Given the description of an element on the screen output the (x, y) to click on. 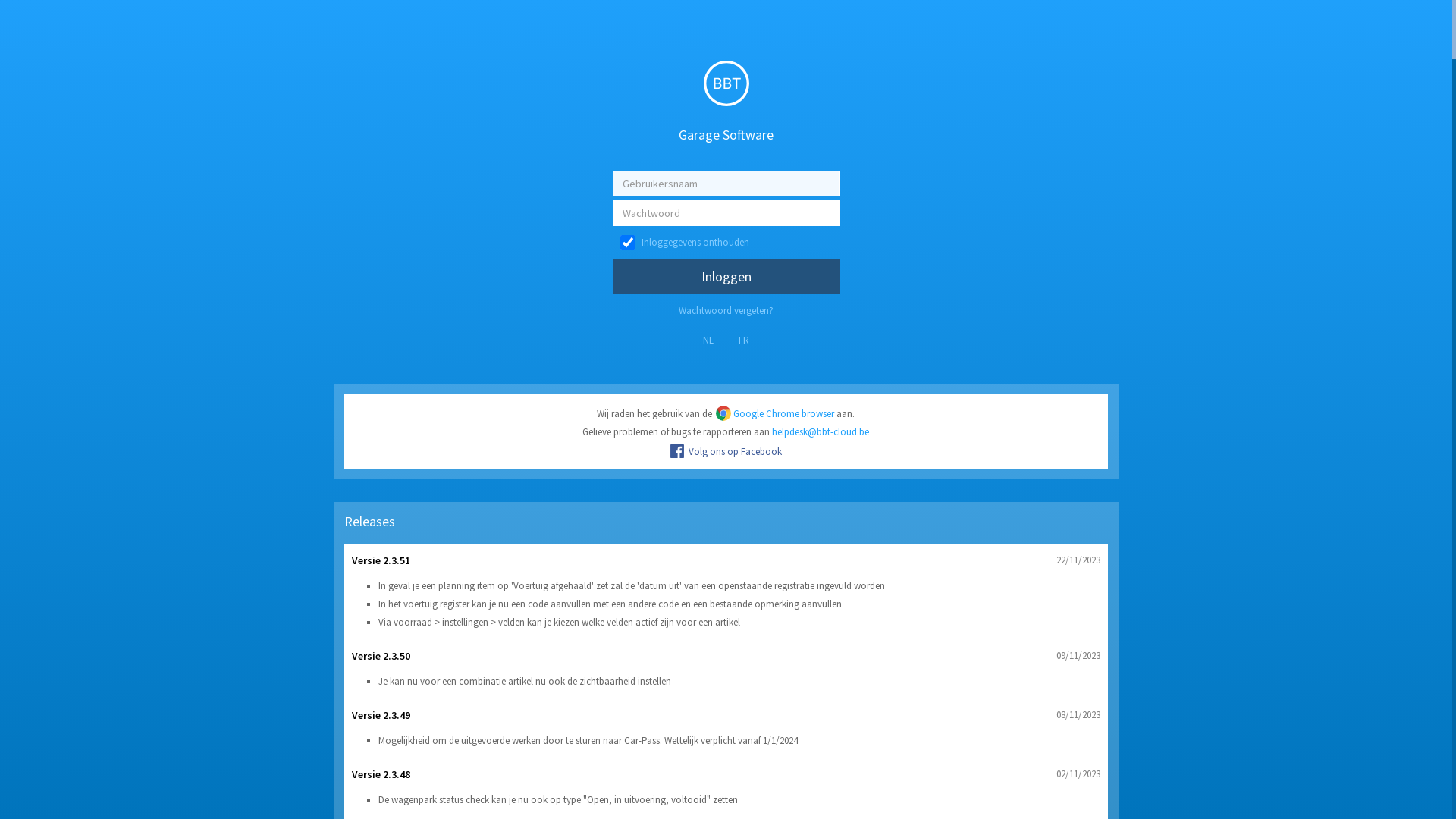
NL FR Element type: text (726, 340)
helpdesk@bbt-cloud.be Element type: text (820, 431)
Inloggen Element type: text (726, 276)
Google Chrome browser Element type: text (774, 413)
Volg ons op Facebook Element type: text (725, 451)
